Given the description of an element on the screen output the (x, y) to click on. 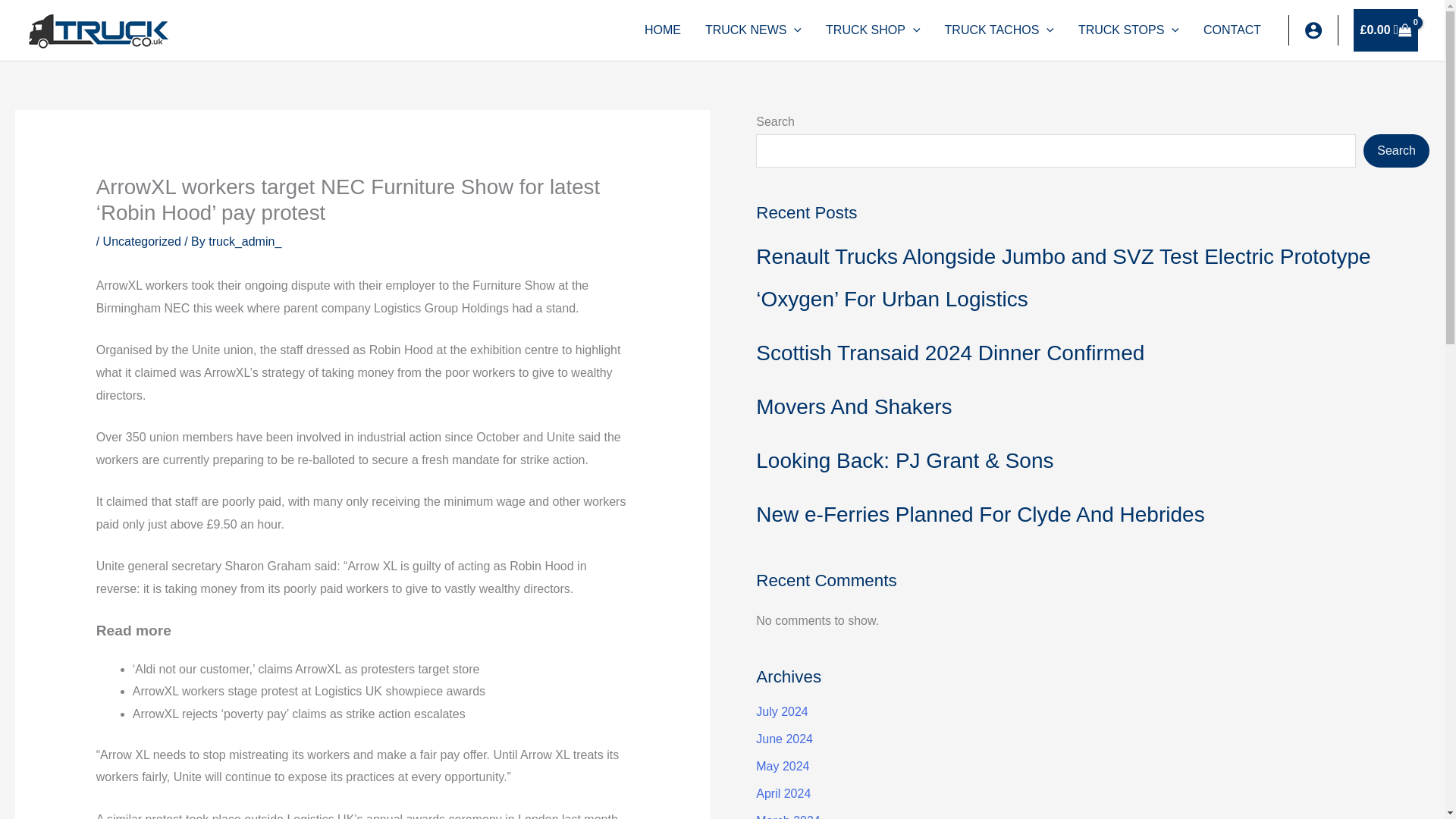
TRUCK SHOP (873, 30)
TRUCK TACHOS (999, 30)
TRUCK STOPS (1128, 30)
CONTACT (1231, 30)
HOME (662, 30)
TRUCK NEWS (753, 30)
